Given the description of an element on the screen output the (x, y) to click on. 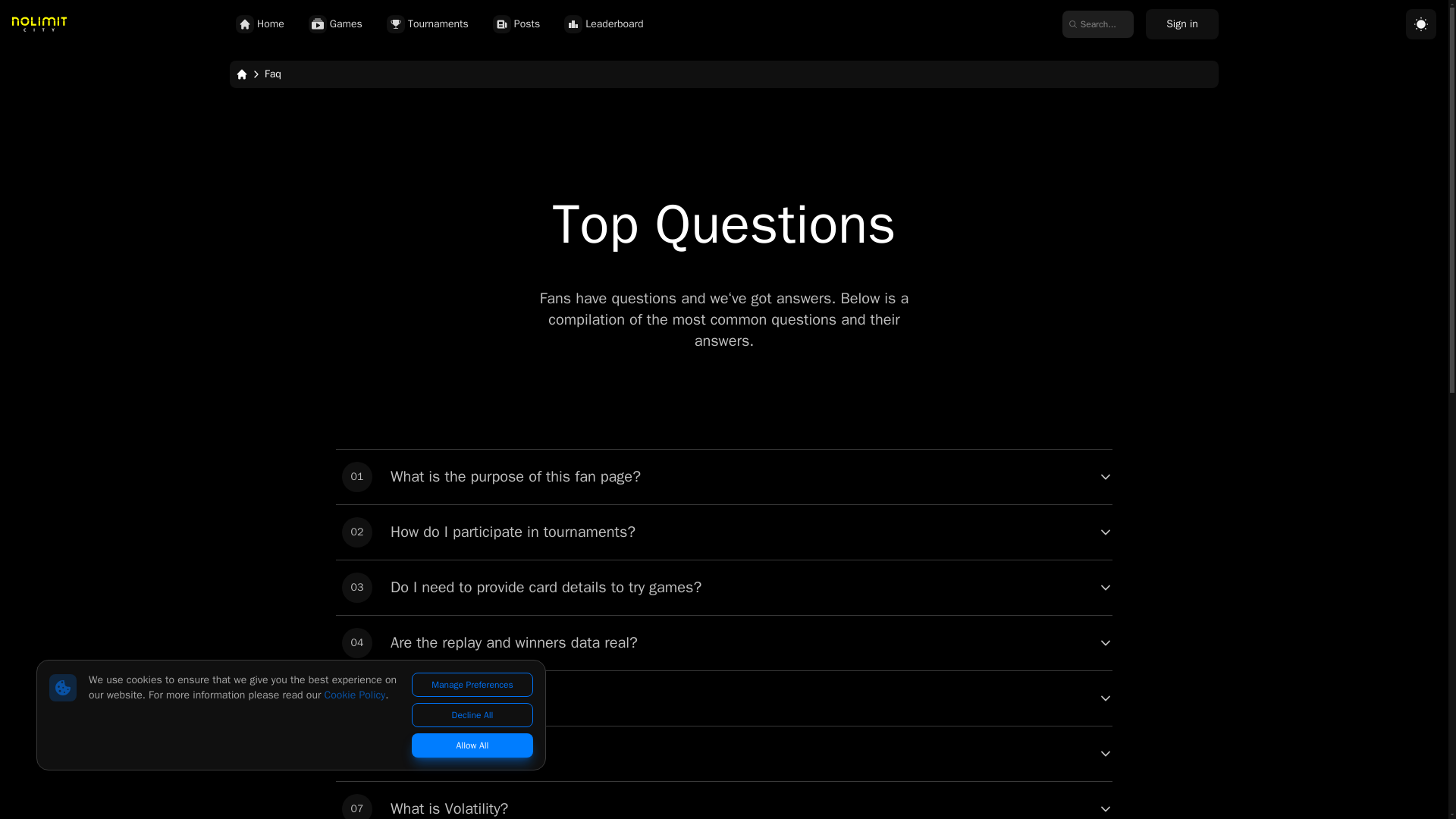
Search... (724, 587)
Tournaments (1098, 23)
Manage Preferences (430, 24)
Games (724, 476)
Cookie Policy (724, 642)
Posts (724, 697)
Sign in (472, 684)
Allow All (724, 532)
